Given the description of an element on the screen output the (x, y) to click on. 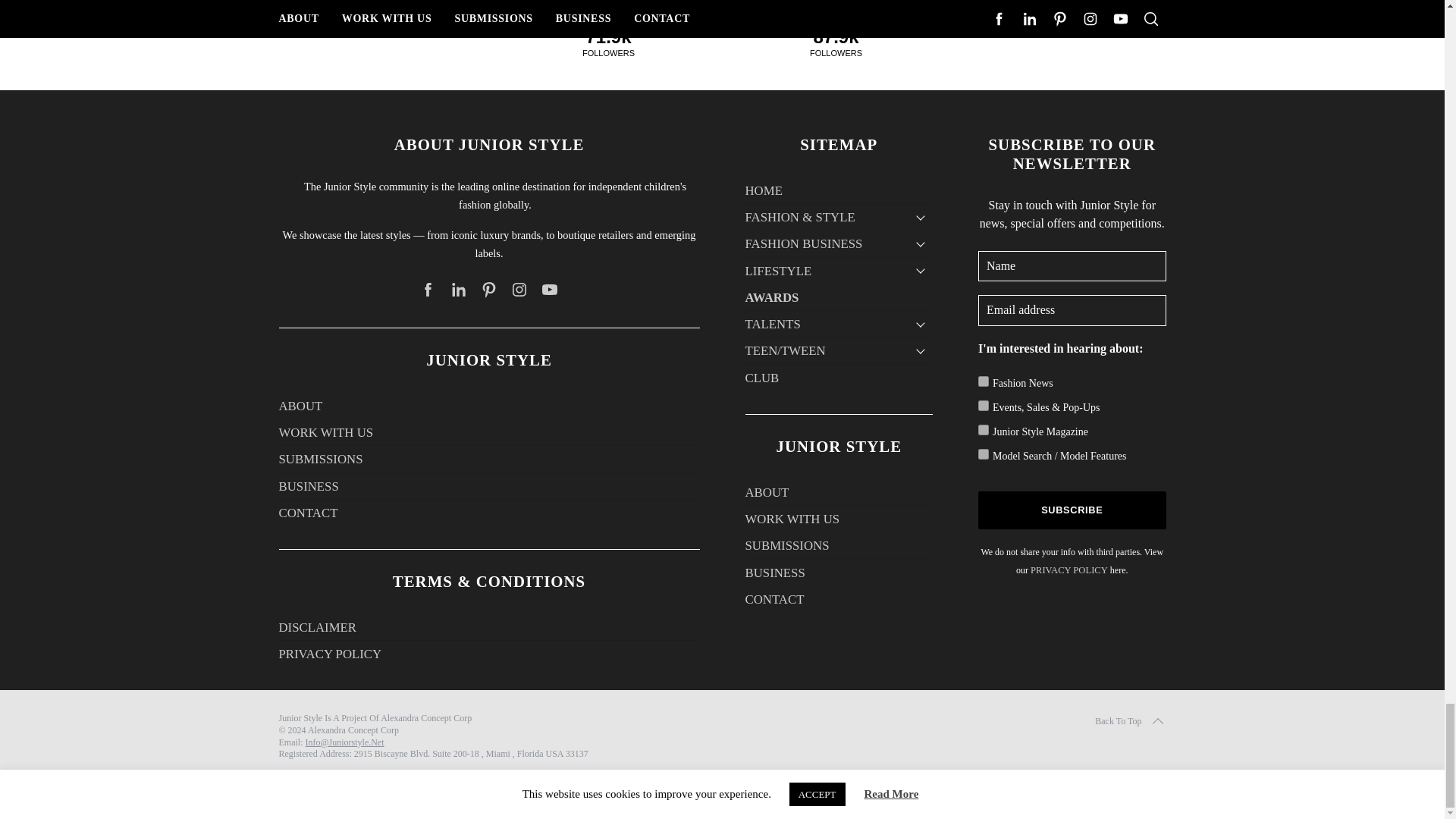
Subscribe (1072, 510)
